Given the description of an element on the screen output the (x, y) to click on. 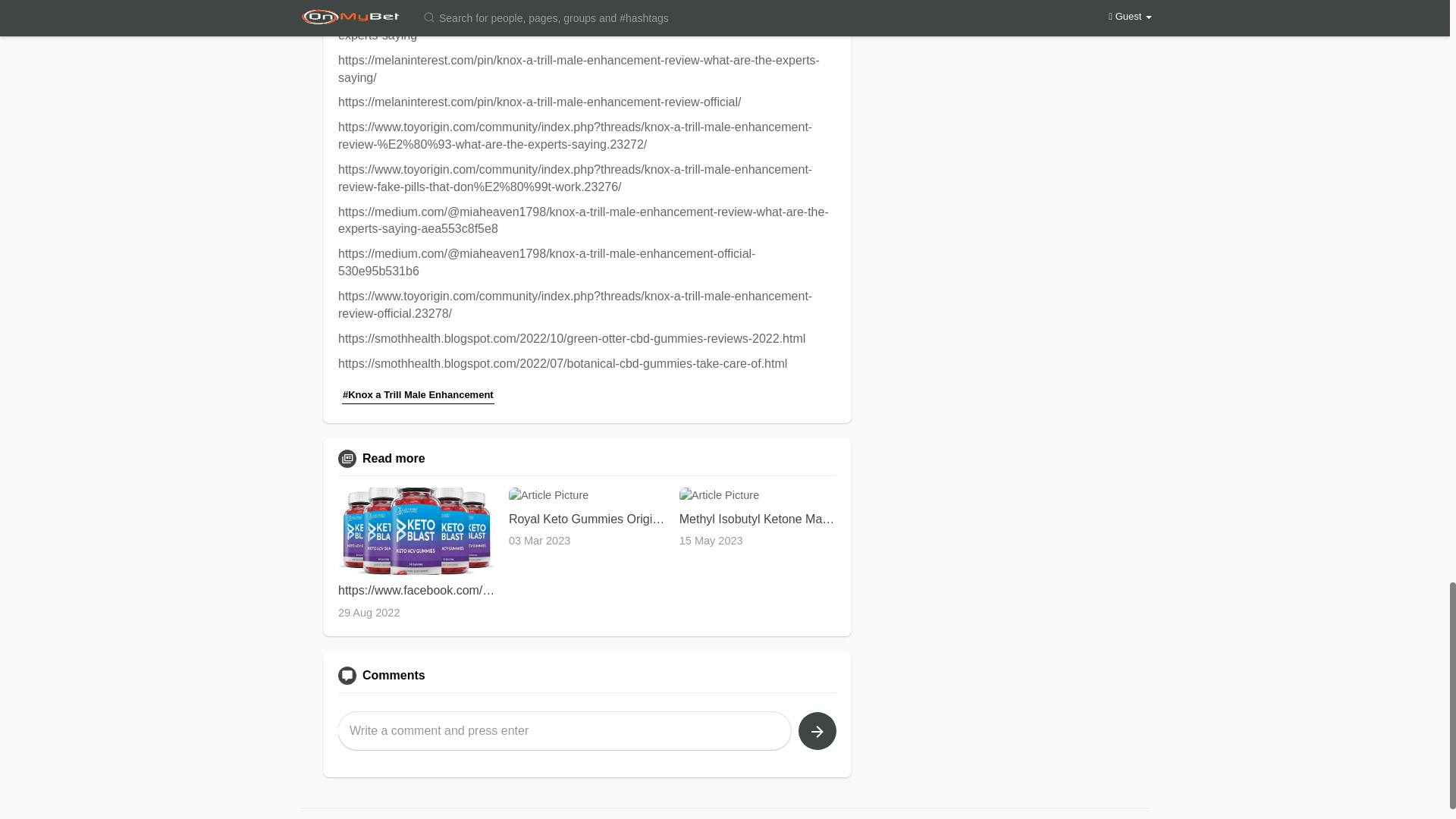
Post (816, 730)
